Given the description of an element on the screen output the (x, y) to click on. 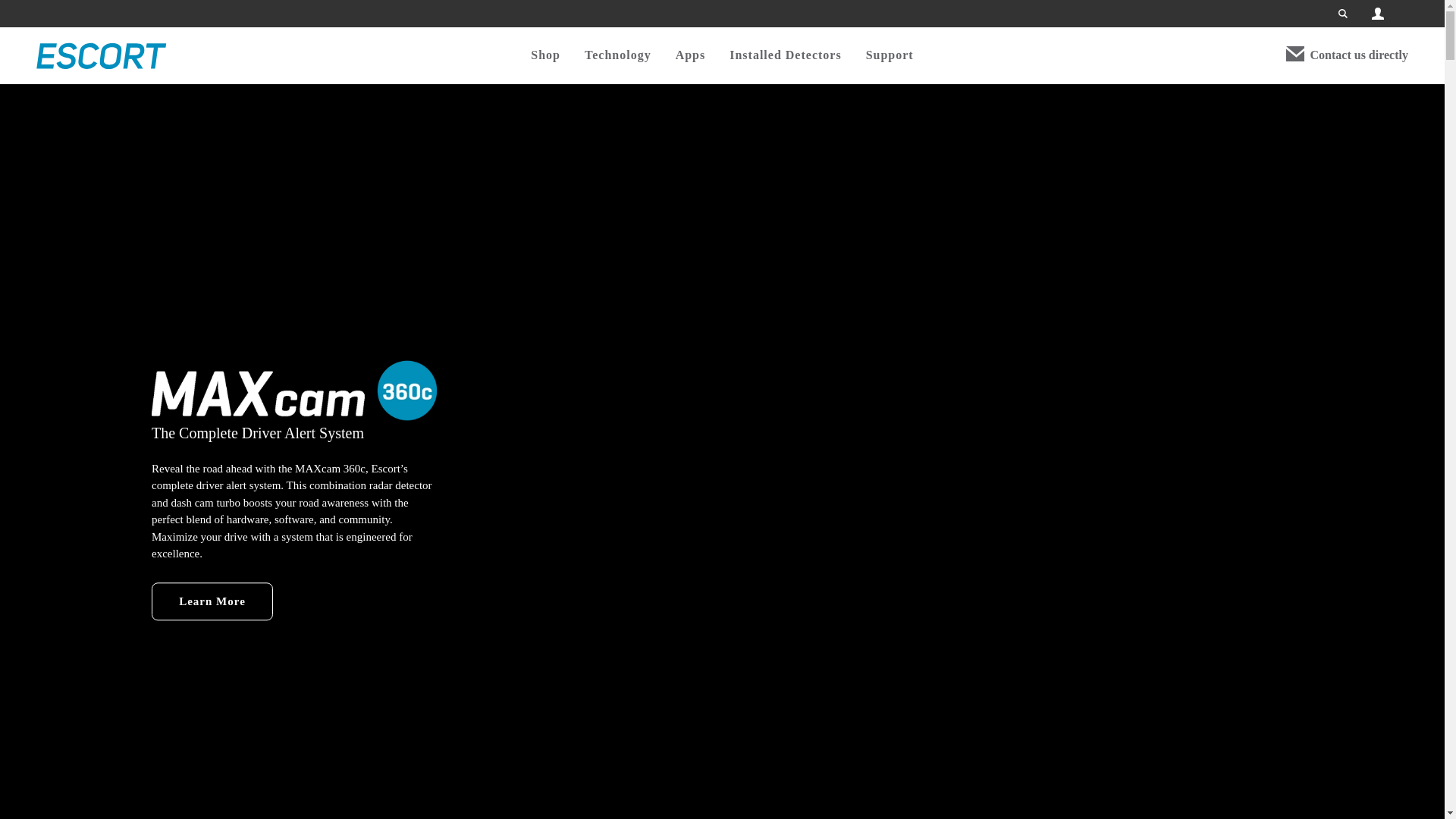
Installed Detectors (785, 54)
Apps (690, 54)
Support (890, 54)
Shop (545, 54)
Contact us directly (1358, 54)
Technology (617, 54)
